Given the description of an element on the screen output the (x, y) to click on. 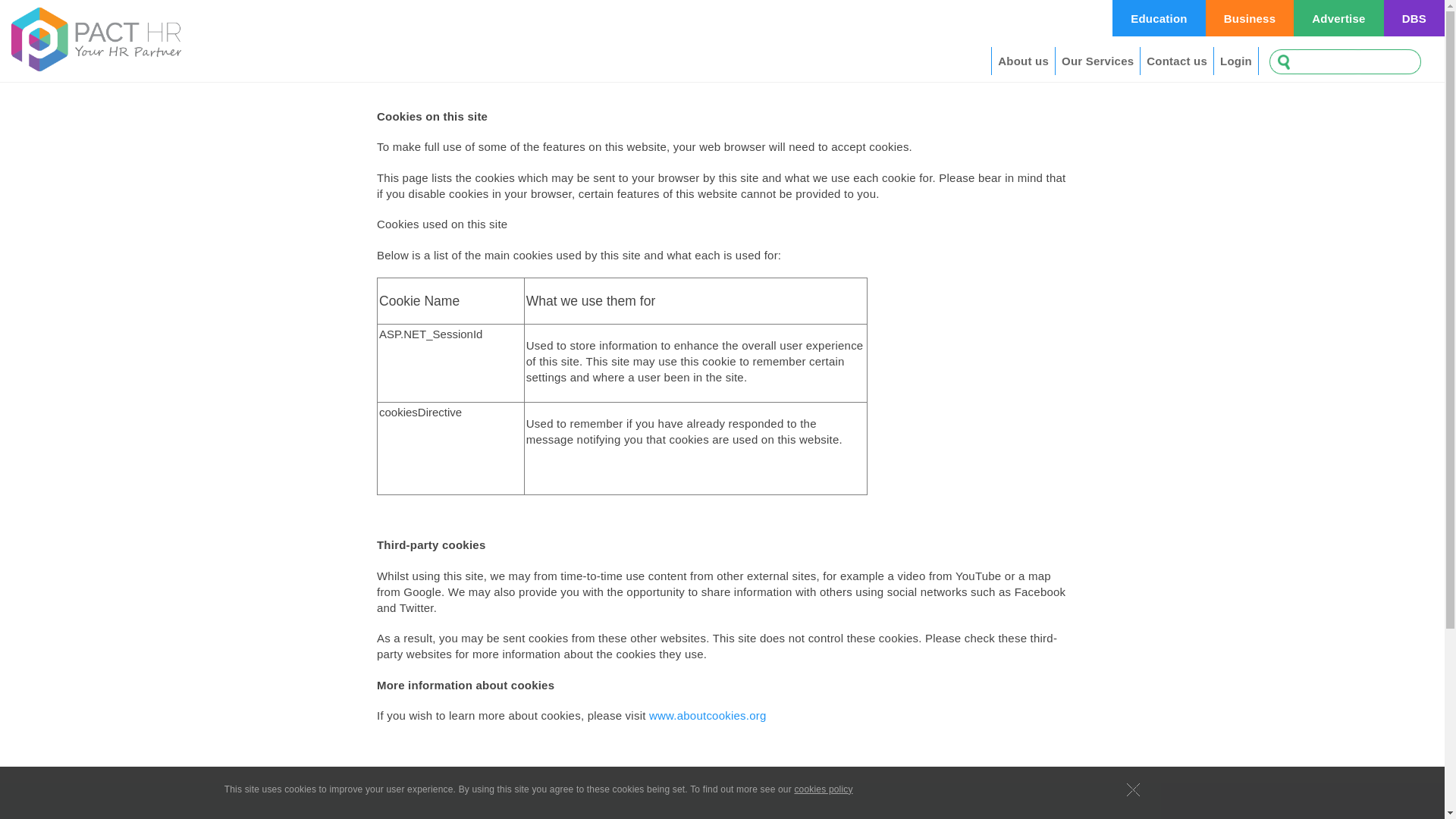
Our Services (1097, 60)
cookies policy (822, 788)
Advertise (1338, 18)
OK, hide this message (1133, 789)
Prospects Online (1338, 18)
Contact us (1177, 60)
DBS (1414, 18)
www.aboutcookies.org (708, 715)
Login (1236, 60)
About us (1022, 60)
PACT HR (94, 38)
Business (1250, 18)
Education (1159, 18)
PACT HR (1159, 18)
OK, hide this message (1133, 789)
